Given the description of an element on the screen output the (x, y) to click on. 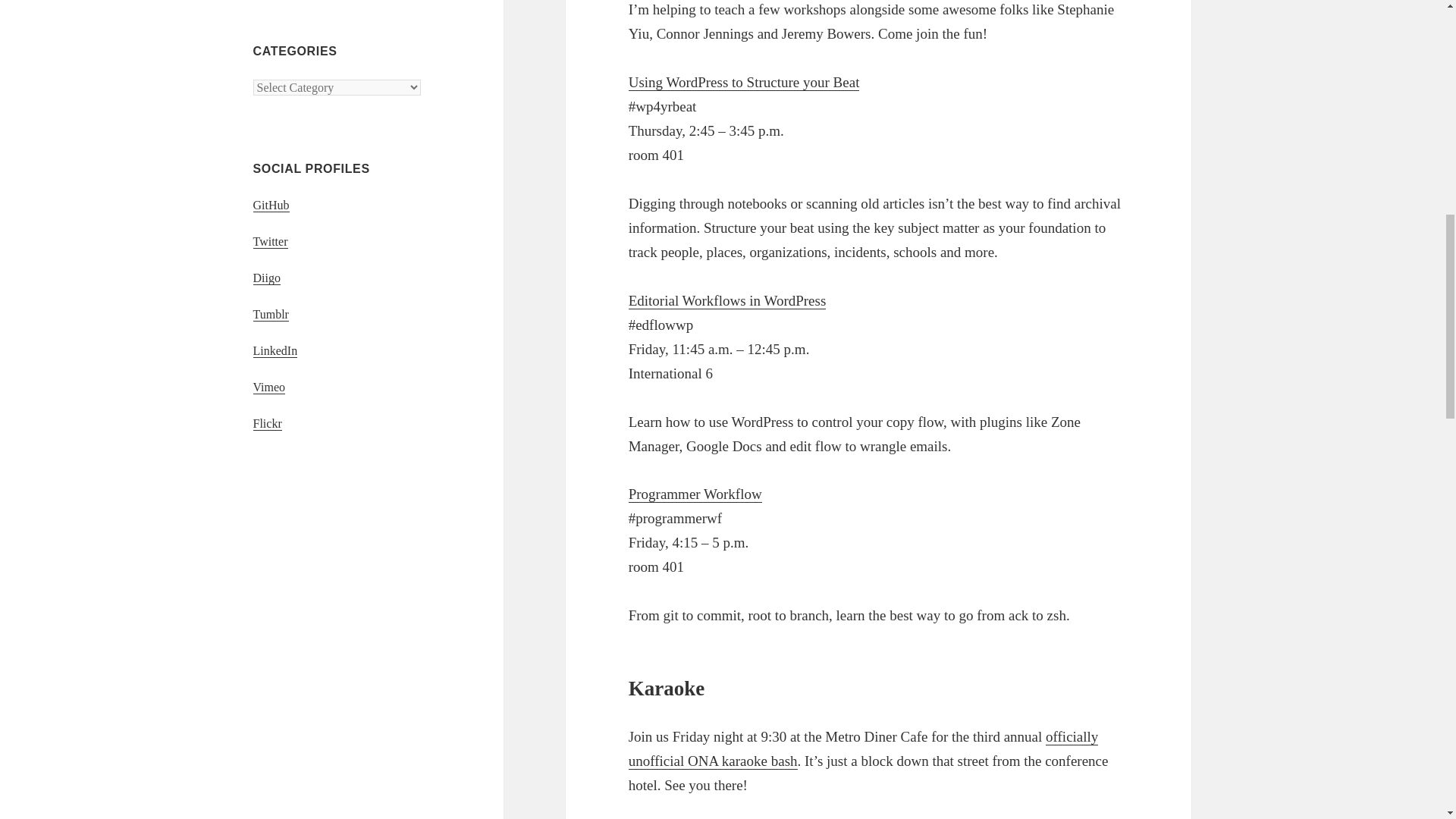
LinkedIn (275, 350)
Editorial Workflows in WordPress (727, 300)
Flickr (267, 423)
Using WordPress to Structure your Beat (744, 82)
Programmer Workflow (694, 494)
officially unofficial ONA karaoke bash (863, 748)
Twitter (270, 241)
Tumblr (270, 314)
Vimeo (269, 386)
GitHub (271, 205)
Diigo (267, 278)
